Given the description of an element on the screen output the (x, y) to click on. 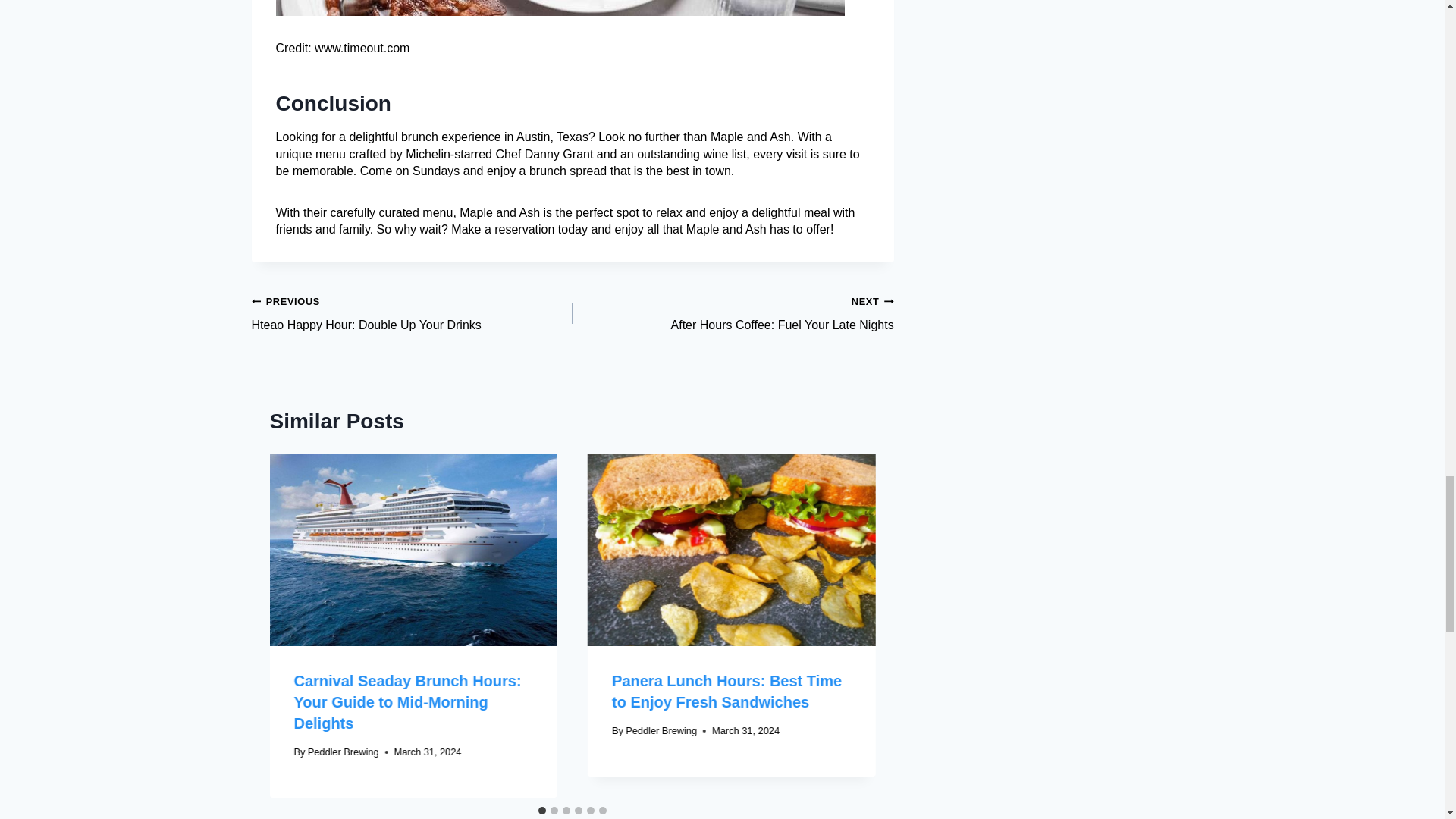
Peddler Brewing (342, 751)
